Given the description of an element on the screen output the (x, y) to click on. 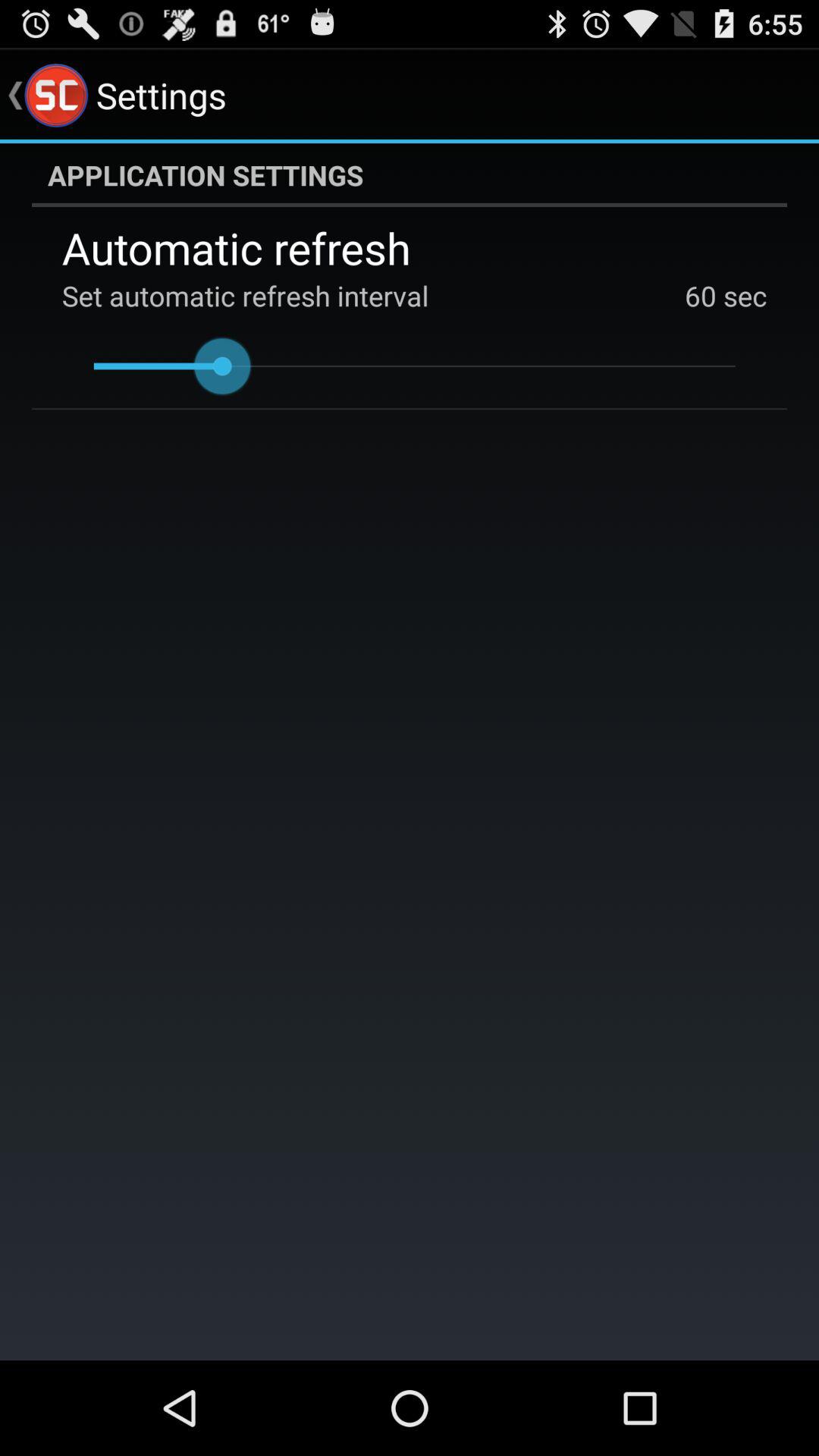
choose app next to  sec icon (700, 295)
